Given the description of an element on the screen output the (x, y) to click on. 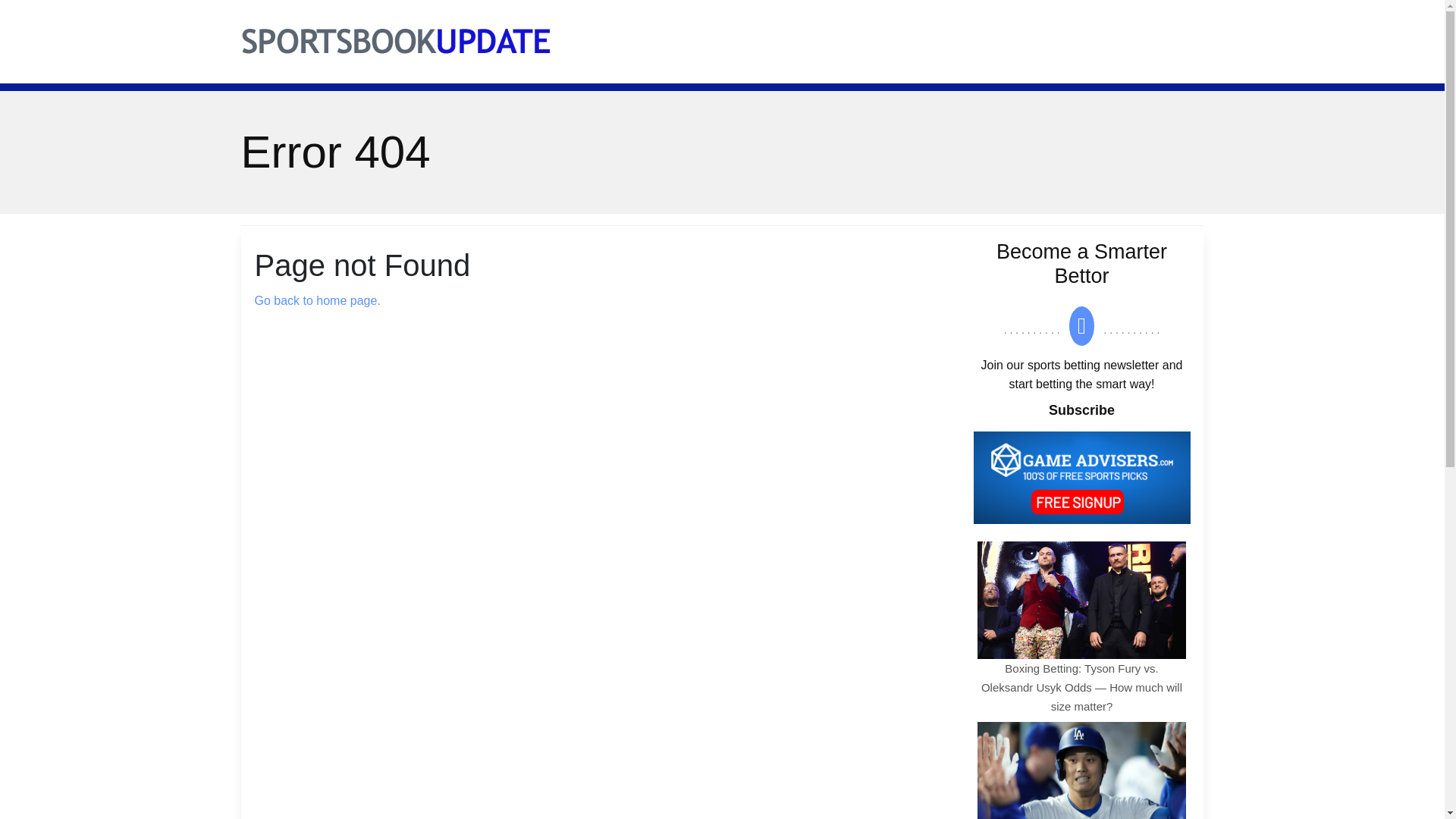
Go back to home page. (317, 300)
Subscribe (1081, 409)
